Given the description of an element on the screen output the (x, y) to click on. 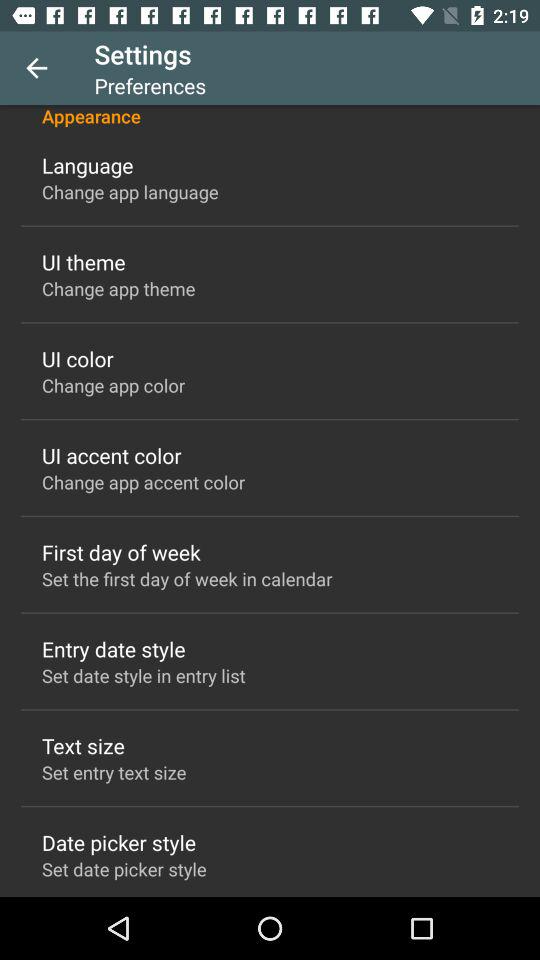
turn on the item above the entry date style item (187, 578)
